Given the description of an element on the screen output the (x, y) to click on. 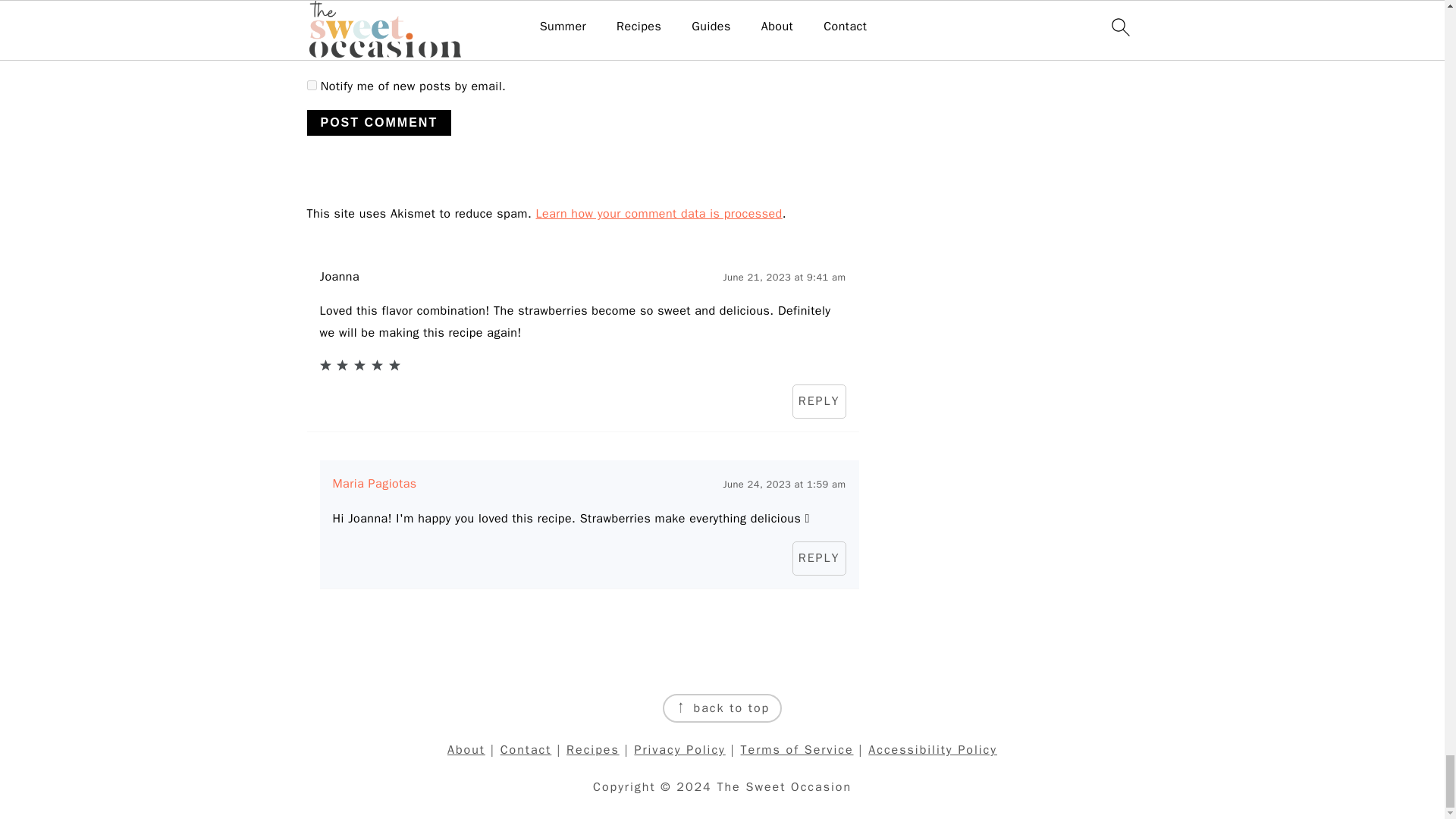
subscribe (310, 85)
Post Comment (378, 122)
subscribe (310, 50)
